Given the description of an element on the screen output the (x, y) to click on. 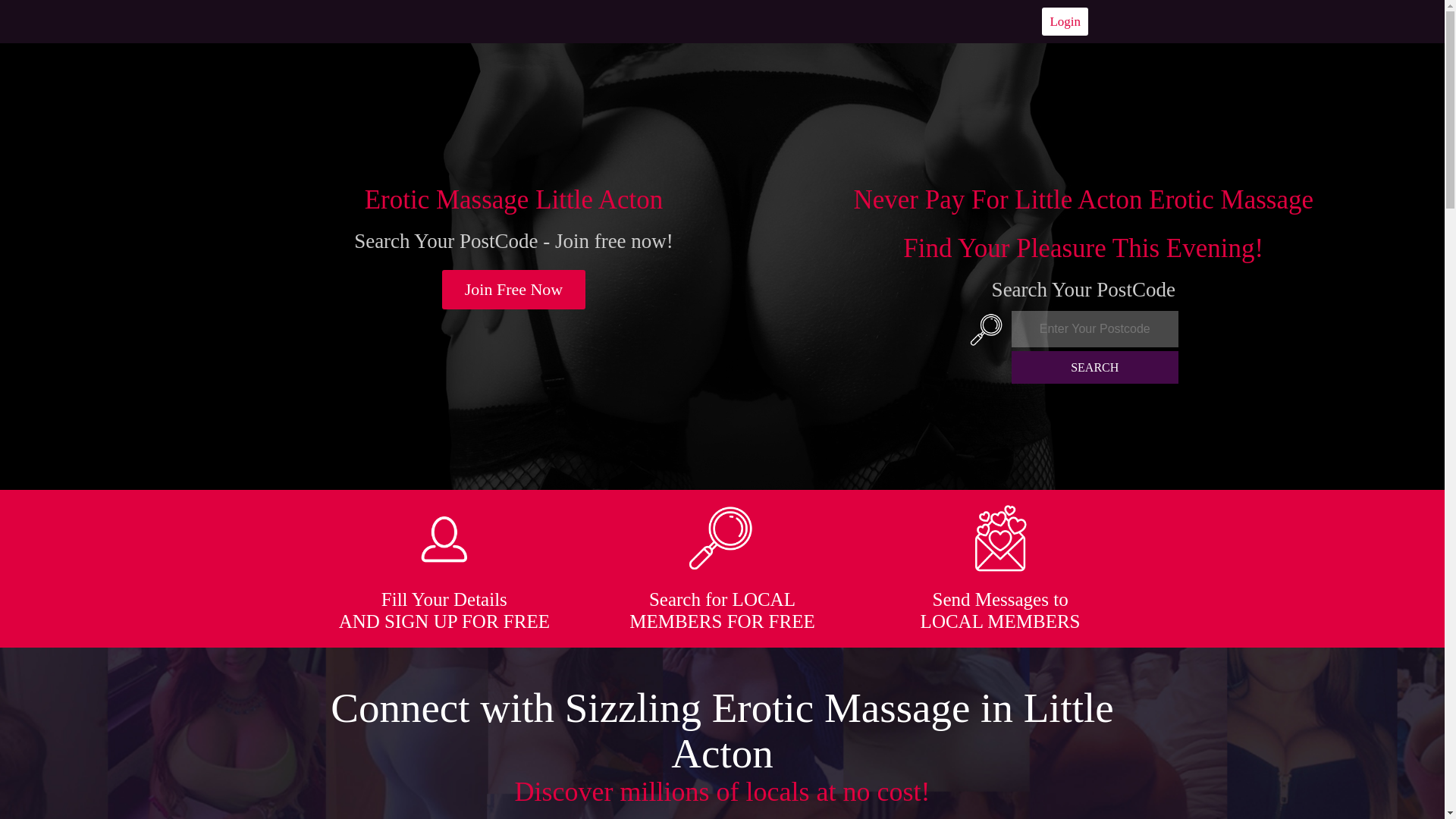
Join Free Now (514, 289)
Login (1064, 21)
Login (1064, 21)
Join (514, 289)
SEARCH (1094, 367)
